Given the description of an element on the screen output the (x, y) to click on. 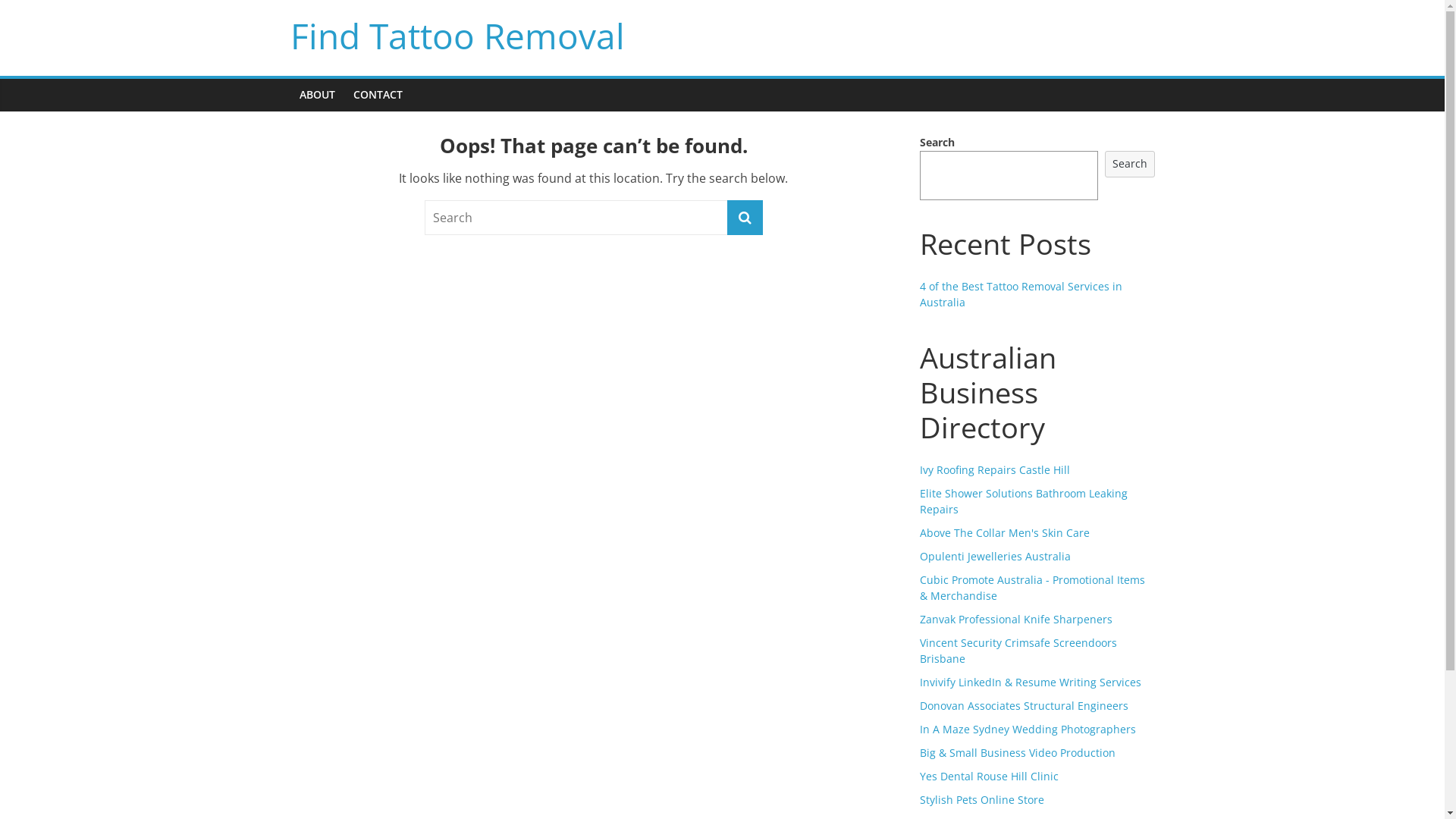
Vincent Security Crimsafe Screendoors Brisbane Element type: text (1017, 650)
Find Tattoo Removal Element type: text (456, 35)
Donovan Associates Structural Engineers Element type: text (1023, 705)
Above The Collar Men's Skin Care Element type: text (1003, 532)
Cubic Promote Australia - Promotional Items & Merchandise Element type: text (1031, 587)
Stylish Pets Online Store Element type: text (981, 799)
Ivy Roofing Repairs Castle Hill Element type: text (994, 469)
Big & Small Business Video Production Element type: text (1016, 752)
Search Element type: text (1129, 163)
CONTACT Element type: text (377, 94)
Zanvak Professional Knife Sharpeners Element type: text (1015, 618)
Elite Shower Solutions Bathroom Leaking Repairs Element type: text (1022, 501)
Opulenti Jewelleries Australia Element type: text (994, 556)
Invivify LinkedIn & Resume Writing Services Element type: text (1029, 681)
Yes Dental Rouse Hill Clinic Element type: text (988, 775)
4 of the Best Tattoo Removal Services in Australia Element type: text (1020, 294)
In A Maze Sydney Wedding Photographers Element type: text (1027, 728)
ABOUT Element type: text (316, 94)
